Given the description of an element on the screen output the (x, y) to click on. 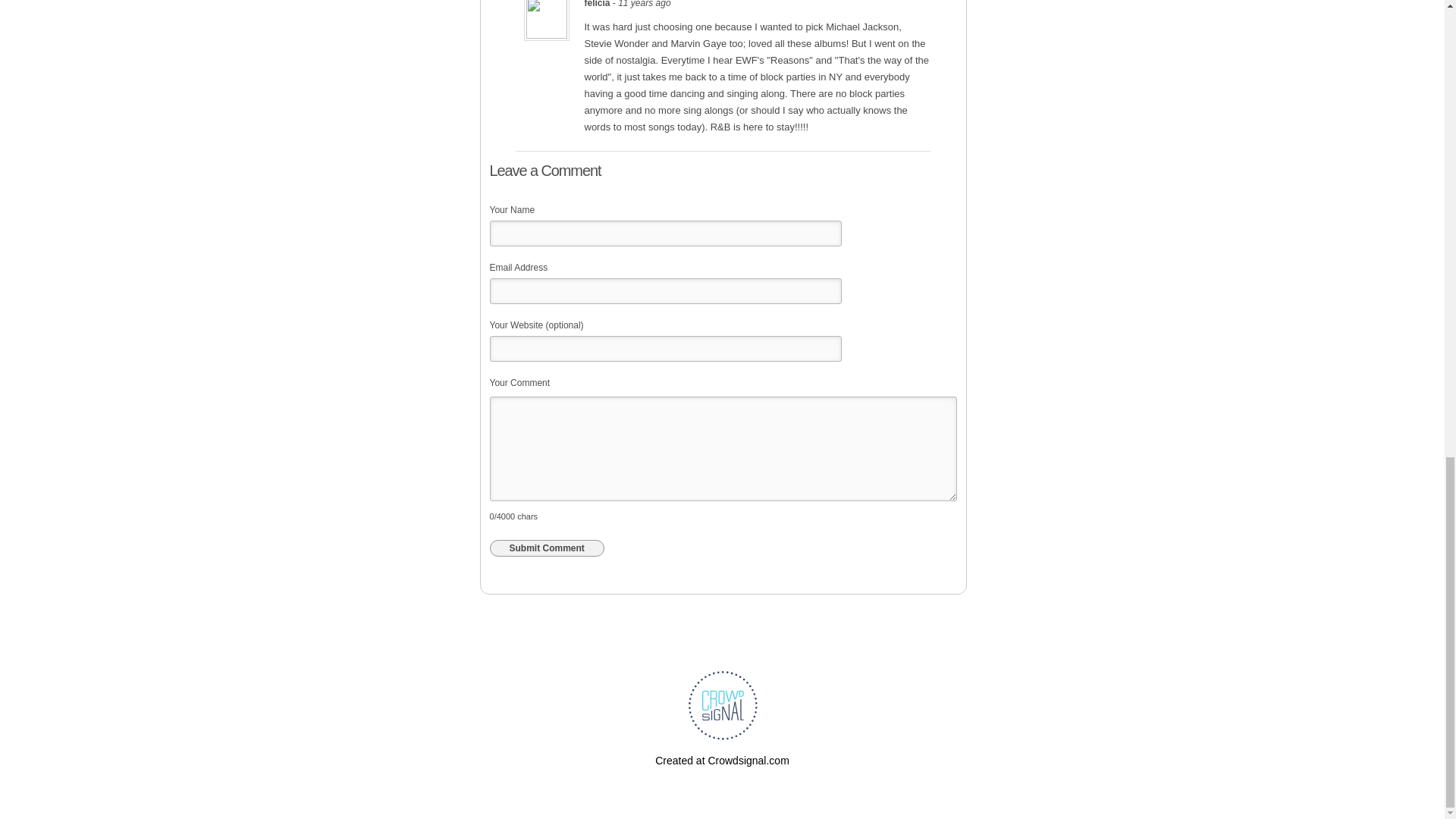
Submit Comment (546, 547)
Created at Crowdsignal.com (722, 760)
Create free online surveys today with Crowdsignal! (722, 760)
